Given the description of an element on the screen output the (x, y) to click on. 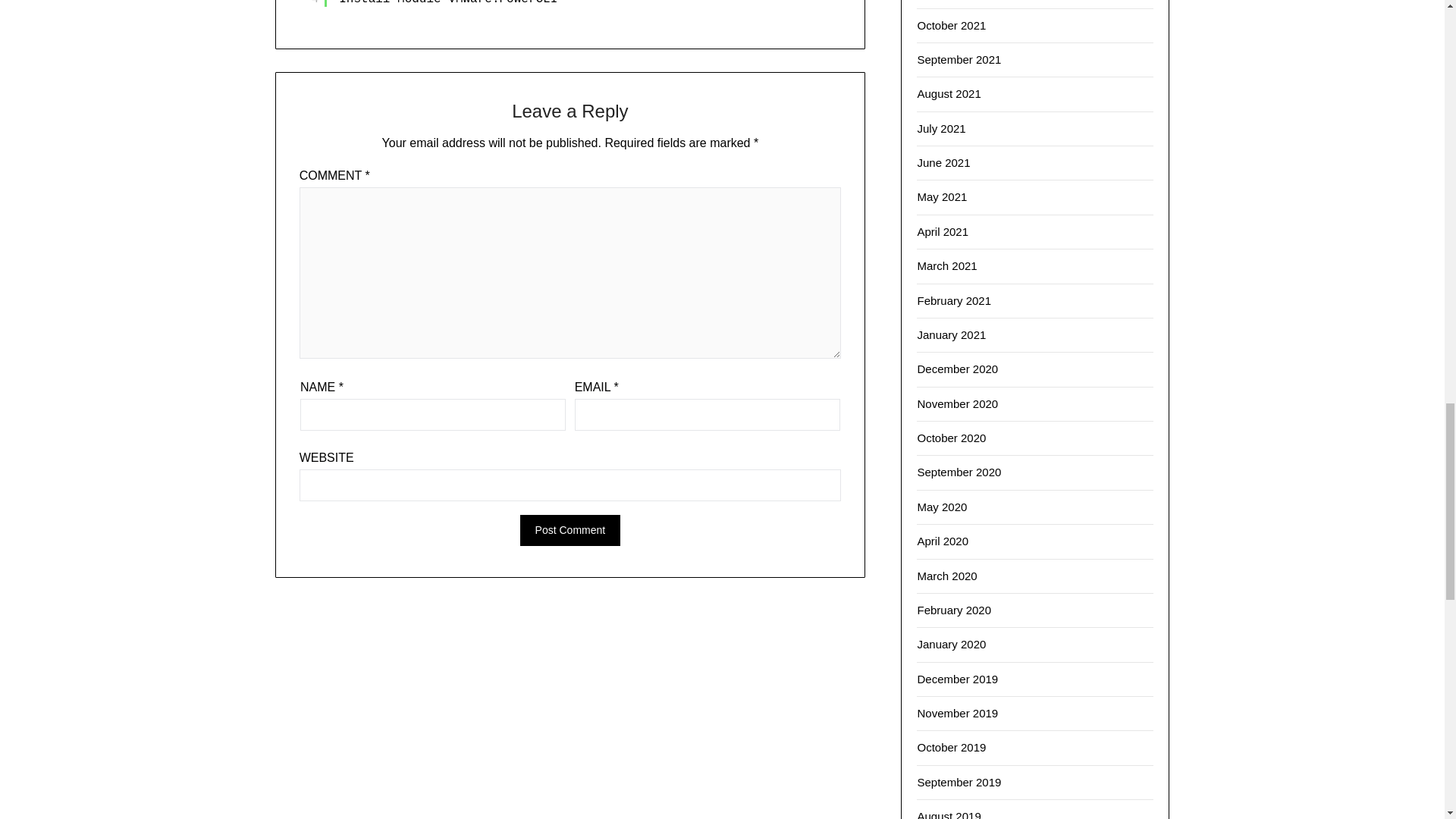
Post Comment (570, 530)
Post Comment (570, 530)
